Given the description of an element on the screen output the (x, y) to click on. 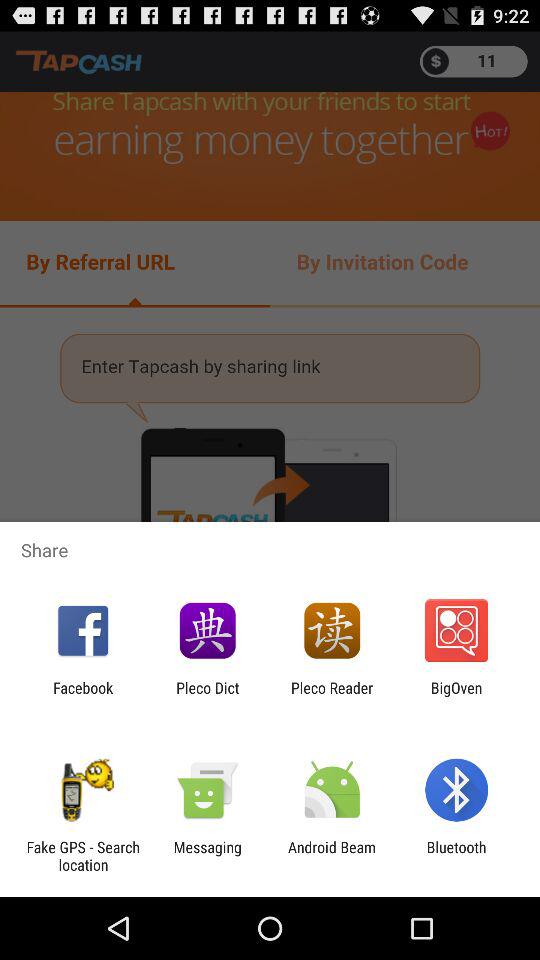
choose the app to the right of the messaging app (332, 856)
